Given the description of an element on the screen output the (x, y) to click on. 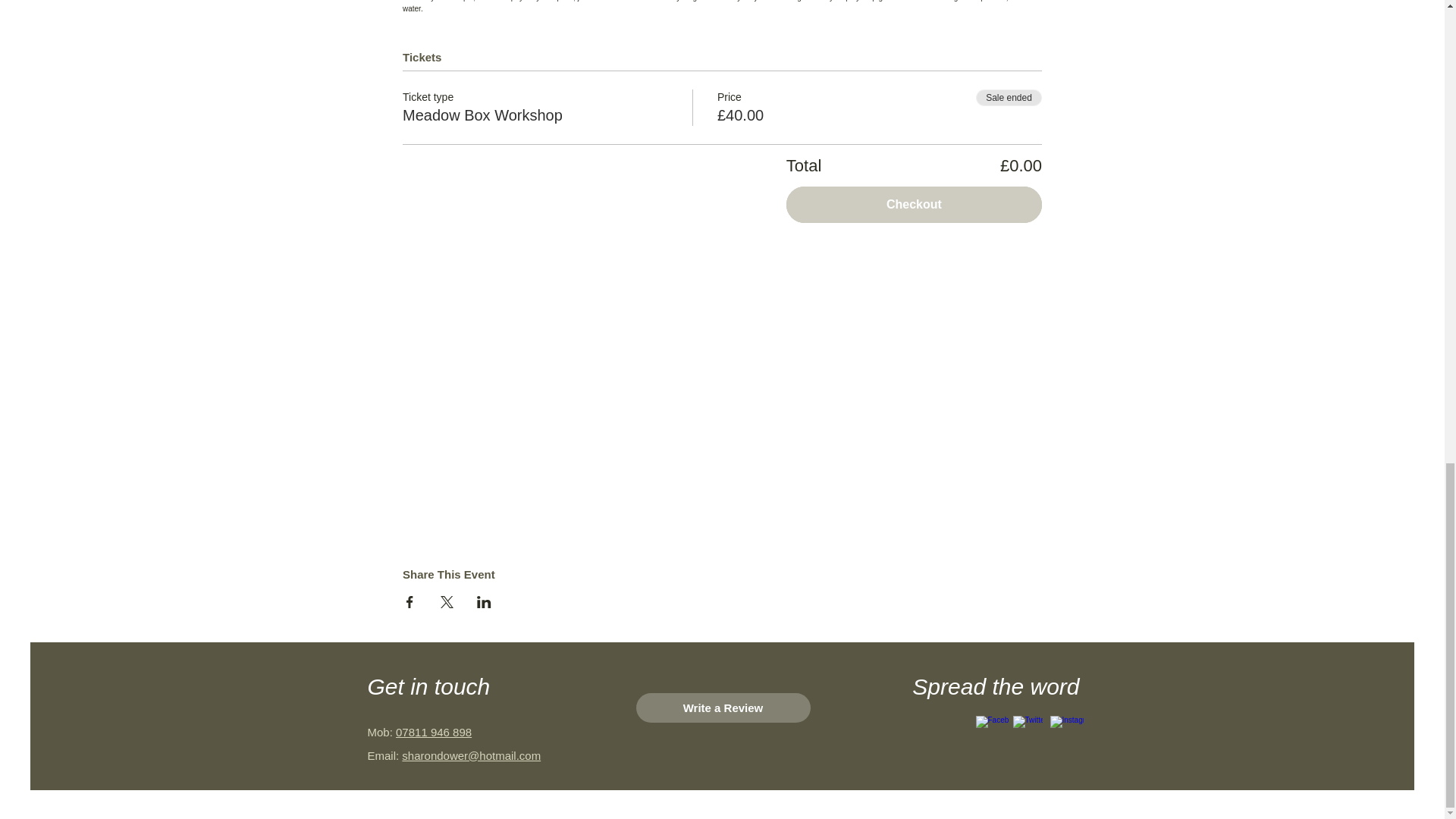
07811 946 898 (433, 731)
Write a Review (721, 707)
Checkout (914, 204)
